Given the description of an element on the screen output the (x, y) to click on. 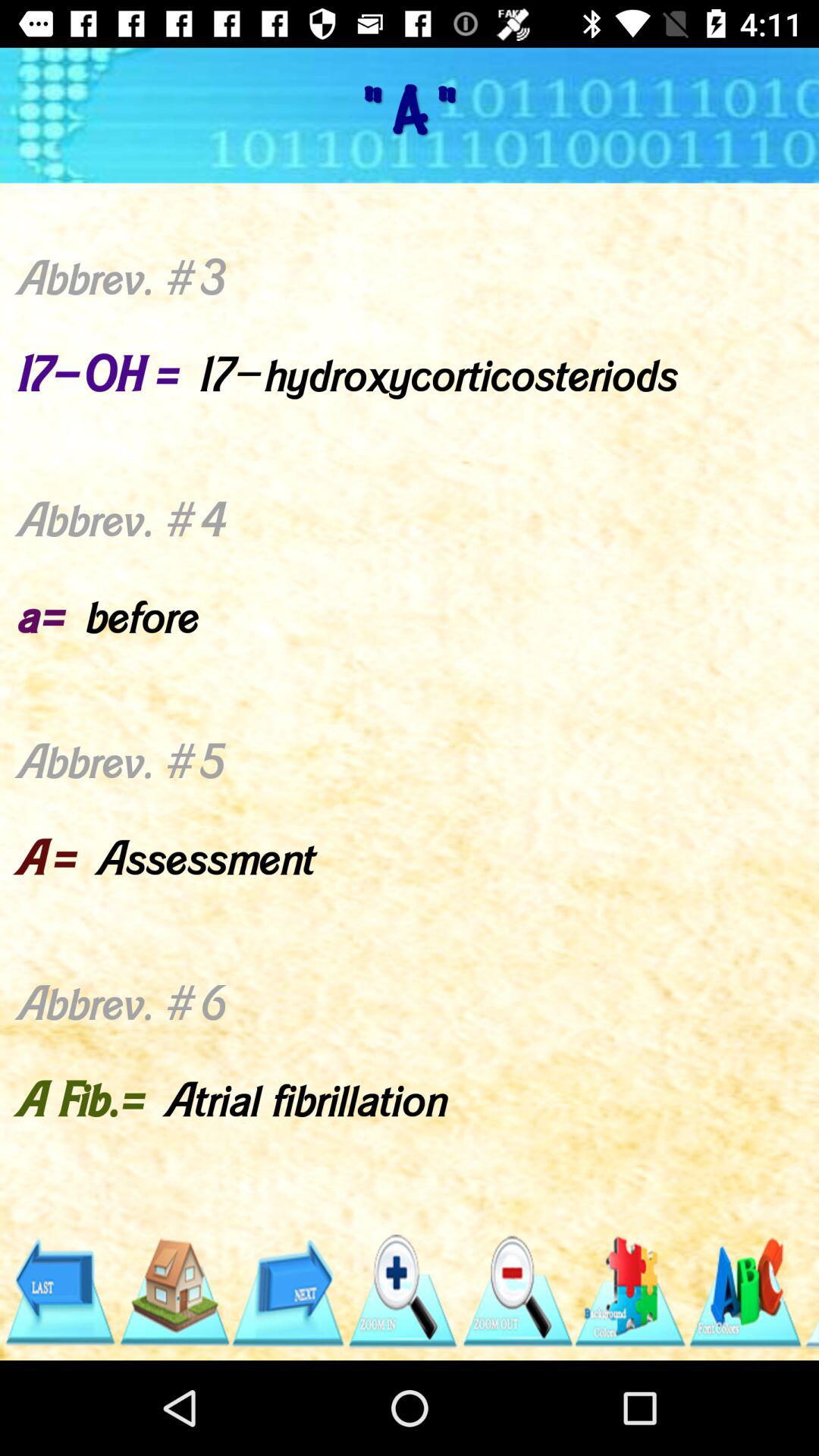
turn on app below the abbrev 	1 (287, 1291)
